Given the description of an element on the screen output the (x, y) to click on. 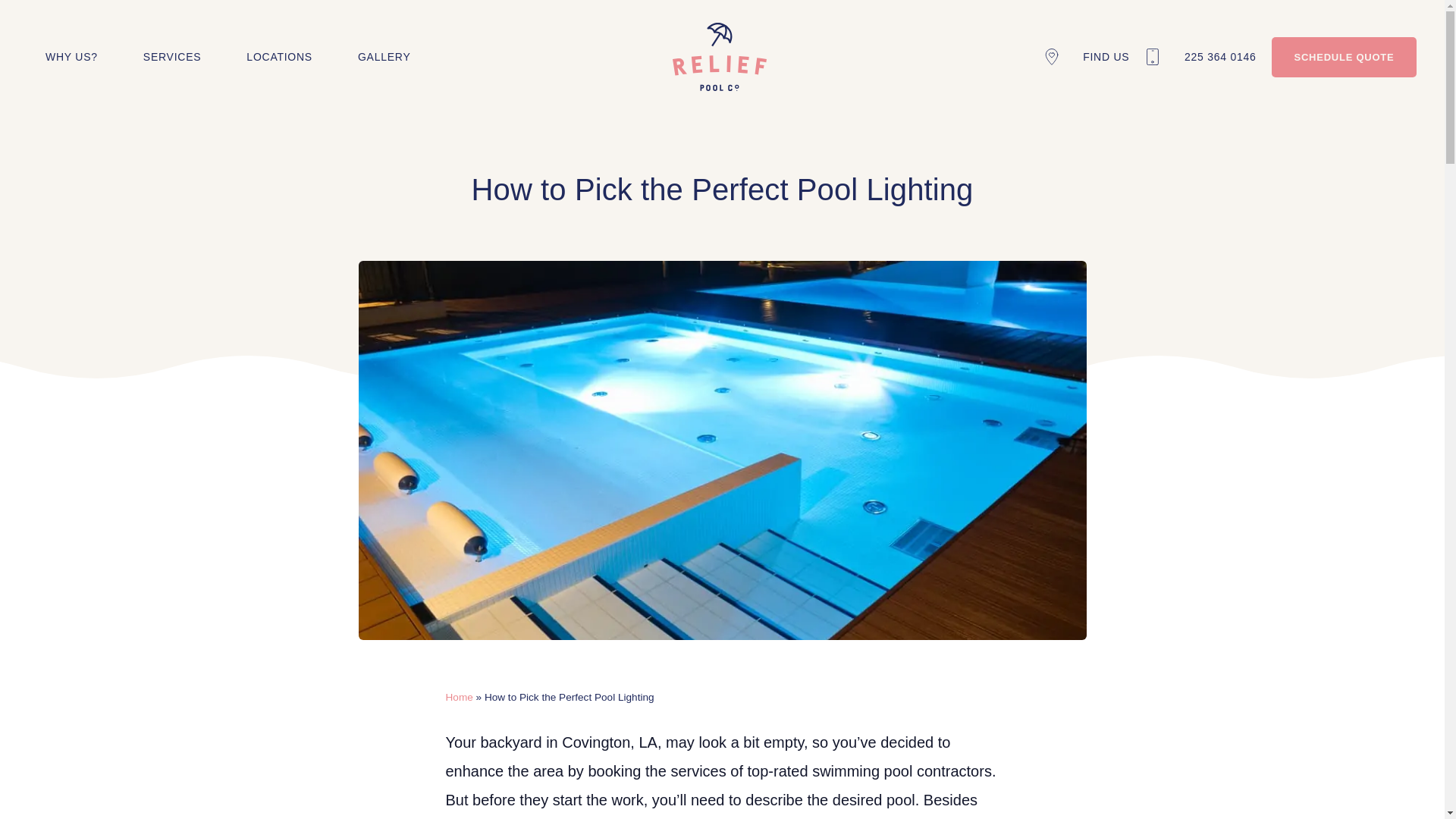
FIND US (1086, 56)
225 364 0146 (1199, 56)
SERVICES (172, 56)
Relief Pools (719, 56)
SCHEDULE QUOTE (1343, 56)
WHY US? (71, 56)
LOCATIONS (279, 56)
Home (459, 696)
GALLERY (384, 56)
